Given the description of an element on the screen output the (x, y) to click on. 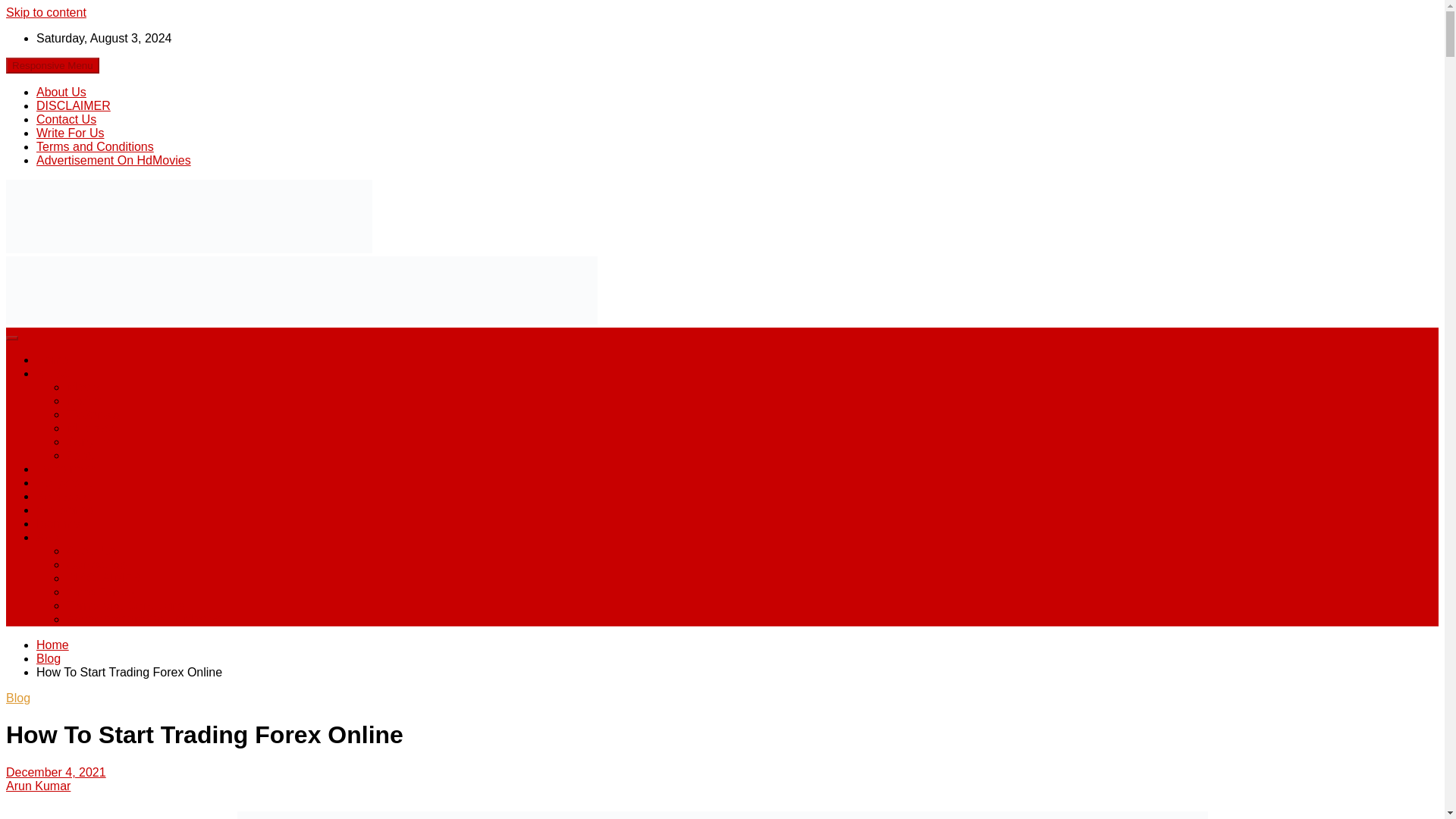
Write For Us (69, 132)
Advertisement On HdMovies (143, 618)
How To Start Trading Forex Online (55, 771)
Multiplex (90, 427)
SonyLiv (88, 440)
Skip to content (45, 11)
Webseries (64, 509)
Home (52, 359)
About Us (60, 91)
